Given the description of an element on the screen output the (x, y) to click on. 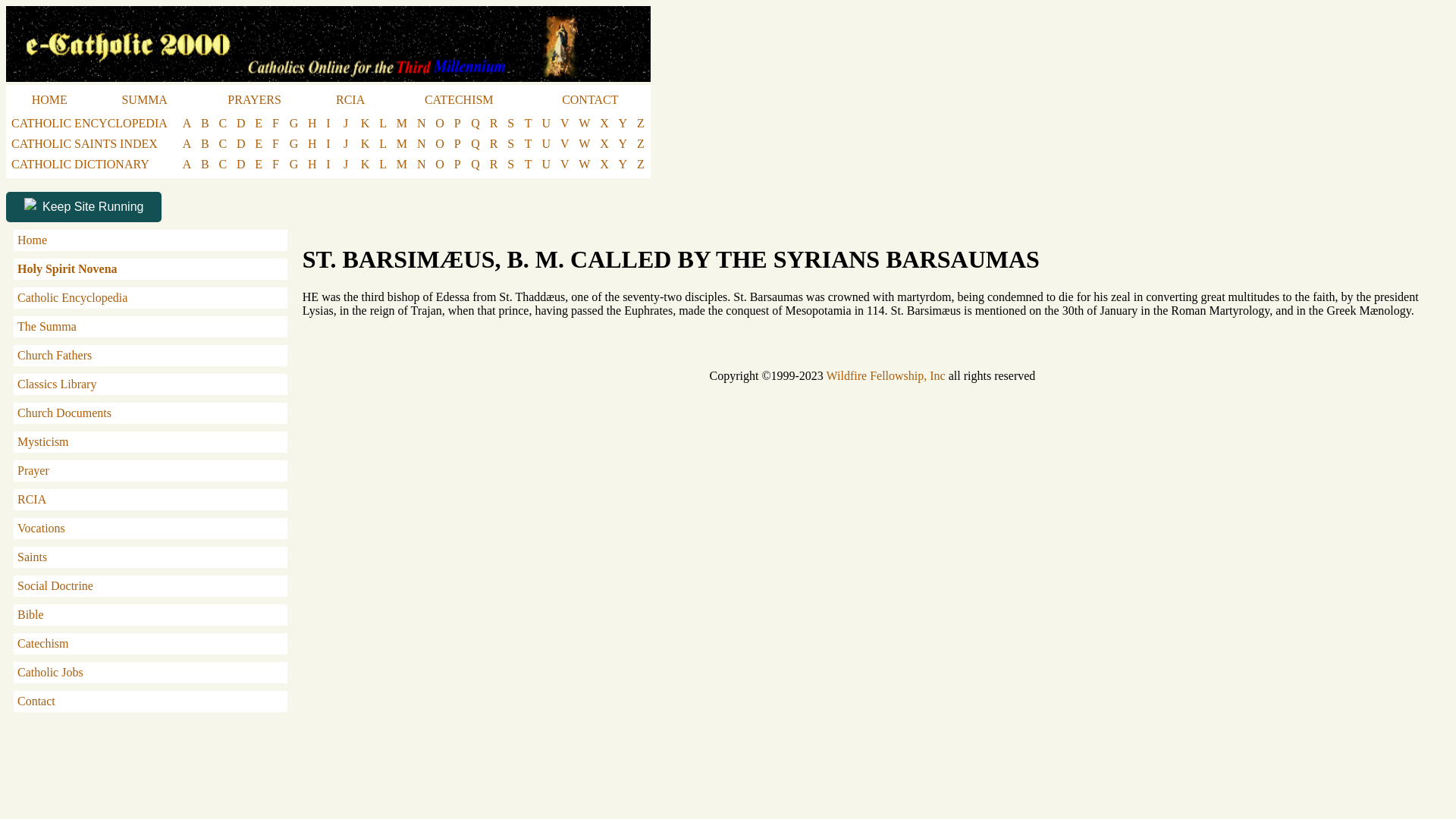
CATHOLIC SAINTS INDEX (84, 143)
A (187, 123)
O (439, 123)
B (204, 123)
H (312, 123)
T (528, 123)
R (494, 123)
G (293, 123)
W (584, 123)
Y (622, 123)
